Given the description of an element on the screen output the (x, y) to click on. 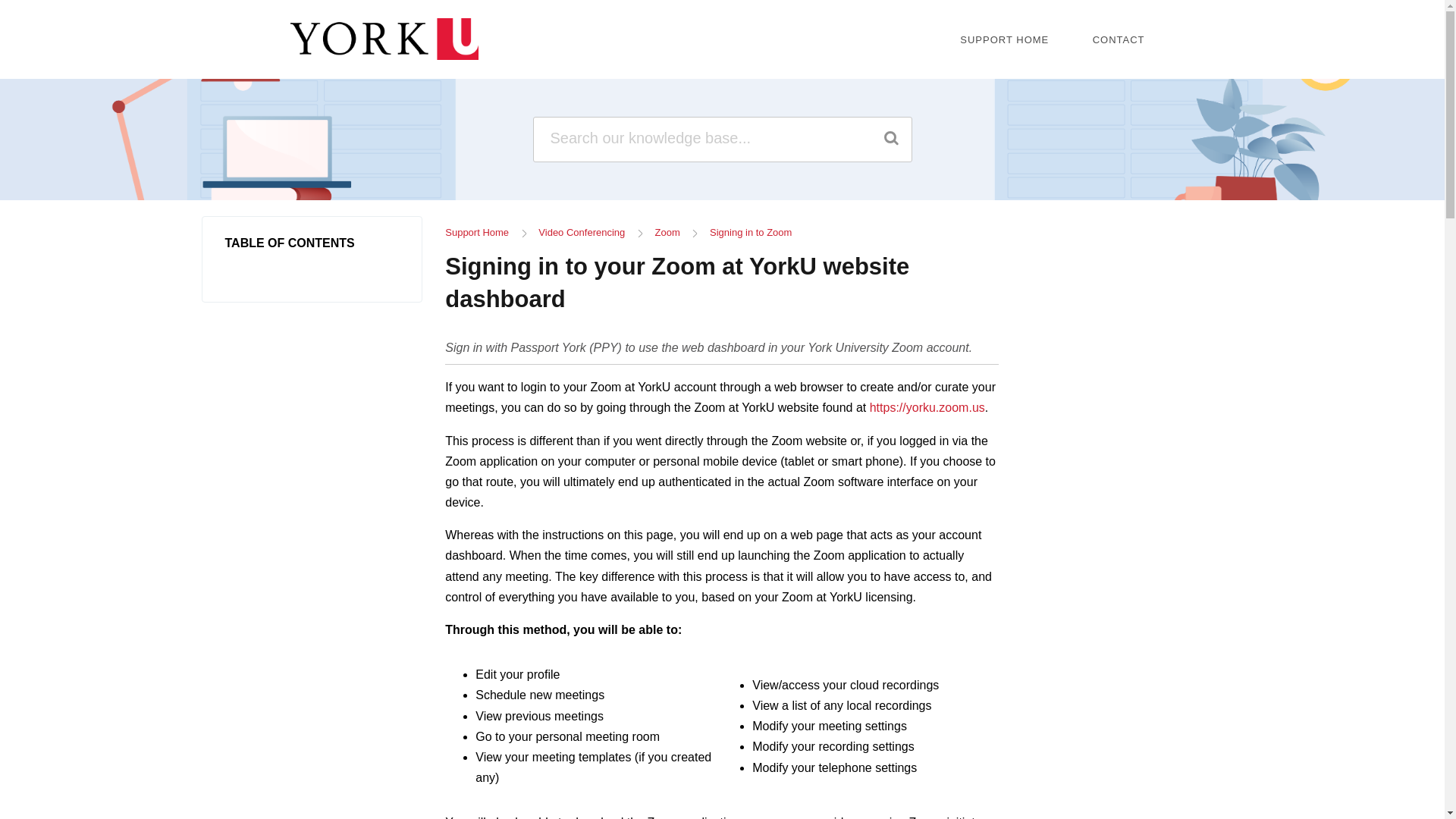
Zoom (667, 232)
Video Conferencing (581, 232)
Support Home (476, 232)
SUPPORT HOME (1004, 39)
Signing in to Zoom (751, 232)
CONTACT (1118, 39)
